Given the description of an element on the screen output the (x, y) to click on. 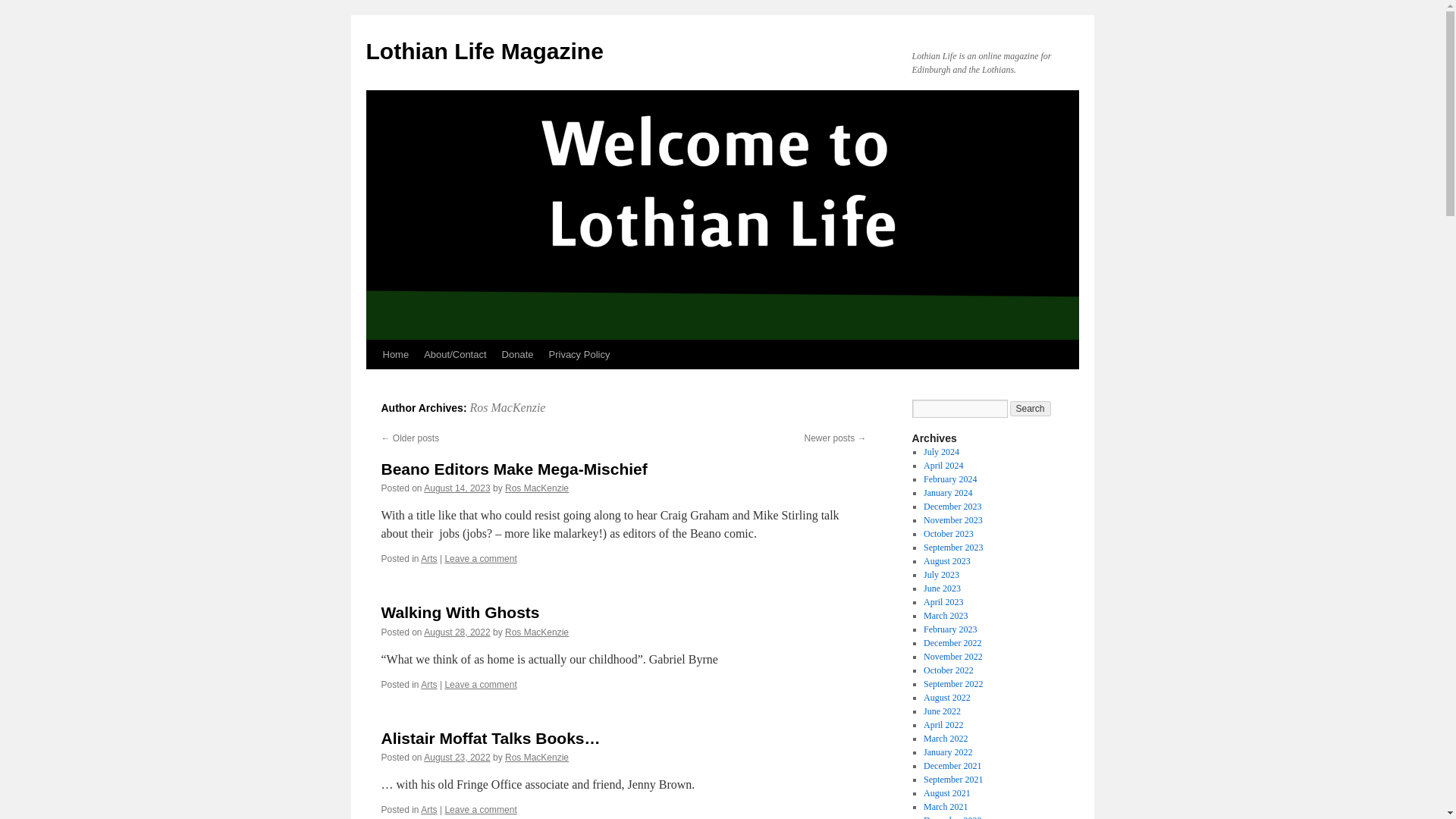
Beano Editors Make Mega-Mischief (513, 468)
Arts (428, 558)
Lothian Life Magazine (483, 50)
View all posts by Ros MacKenzie (537, 632)
View all posts by Ros MacKenzie (537, 757)
August 14, 2023 (456, 488)
Leave a comment (480, 809)
2:57 pm (456, 757)
Donate (518, 354)
Walking With Ghosts (459, 611)
Arts (428, 684)
August 23, 2022 (456, 757)
Search (1030, 408)
View all posts by Ros MacKenzie (537, 488)
Ros MacKenzie (537, 488)
